Given the description of an element on the screen output the (x, y) to click on. 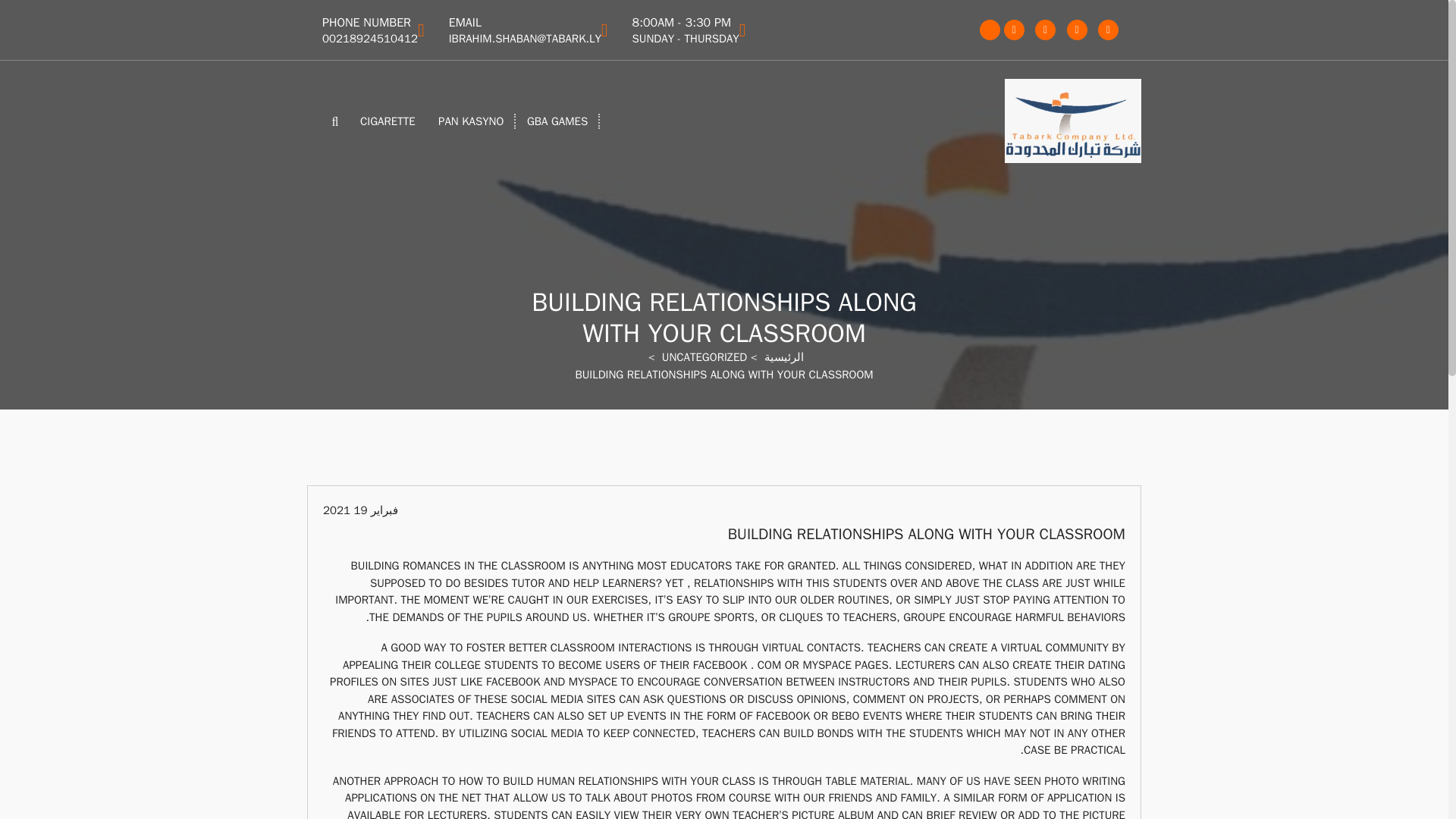
PAN KASYNO (470, 121)
GBA games (557, 121)
CIGARETTE (369, 30)
cigarette (387, 121)
Pan kasyno (387, 121)
GBA GAMES (470, 121)
UNCATEGORIZED (685, 30)
